Given the description of an element on the screen output the (x, y) to click on. 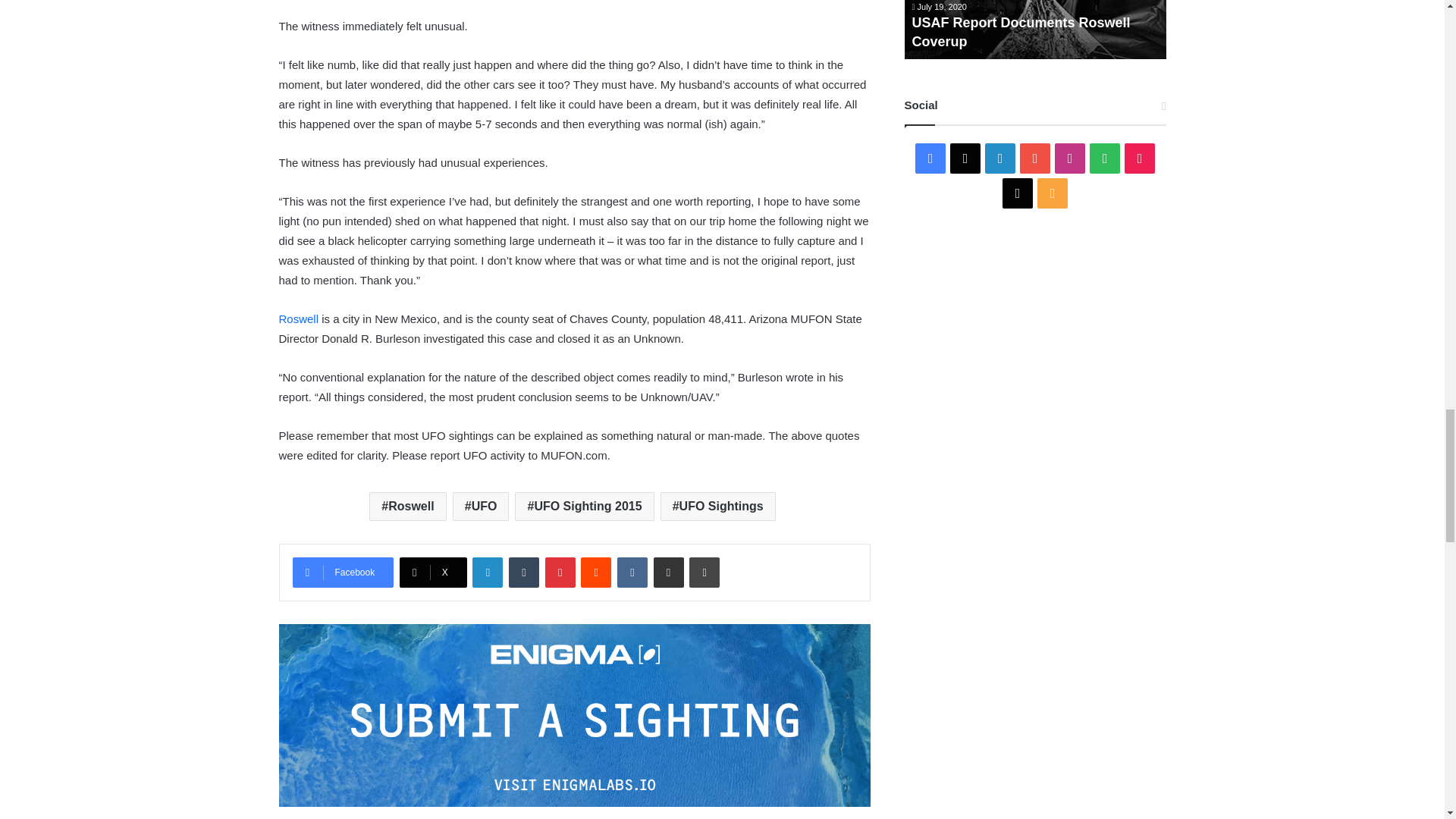
Facebook (343, 572)
Pinterest (559, 572)
Tumblr (523, 572)
Reddit (595, 572)
X (432, 572)
LinkedIn (486, 572)
VKontakte (632, 572)
Print (703, 572)
Share via Email (668, 572)
